Given the description of an element on the screen output the (x, y) to click on. 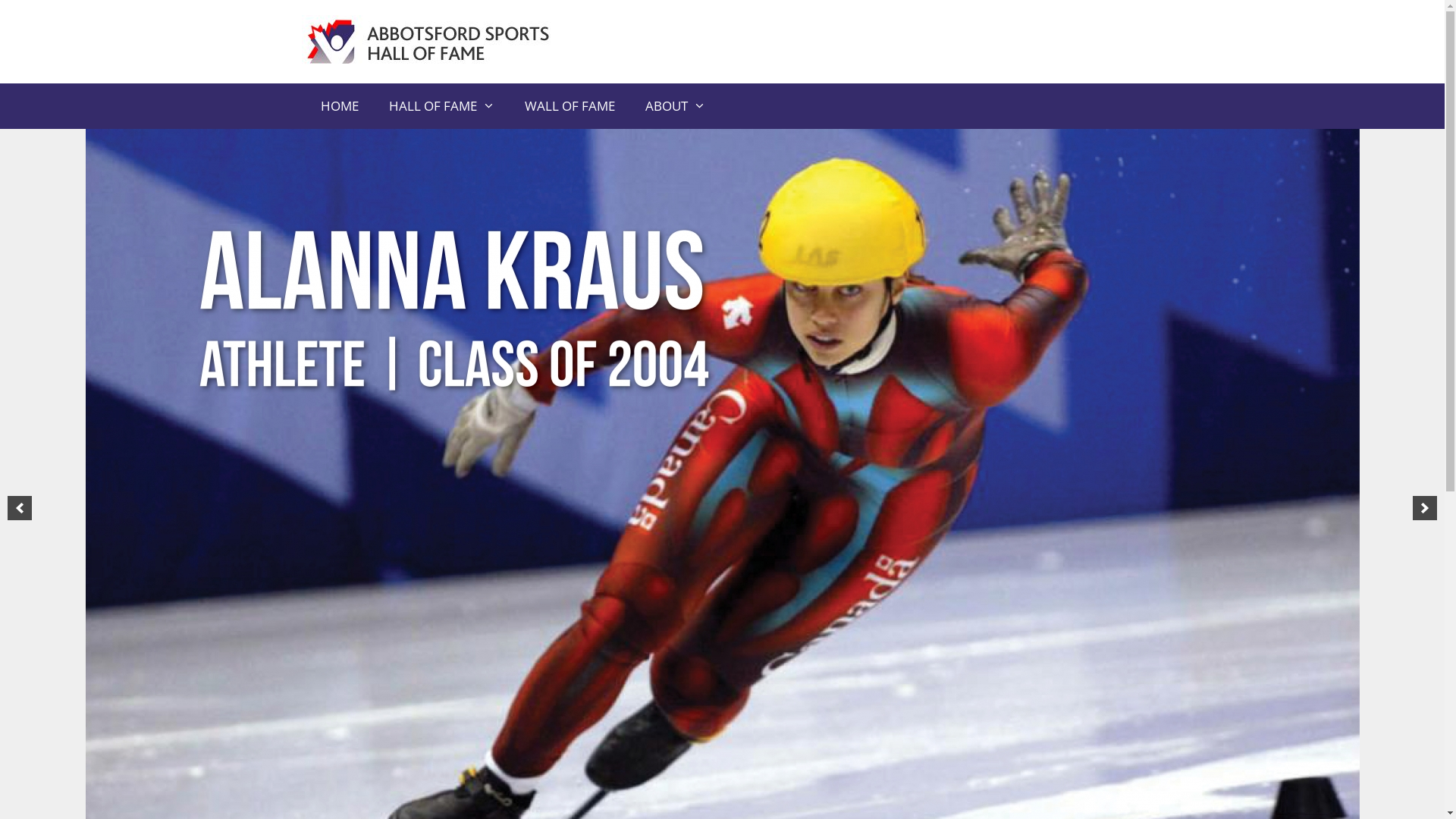
Abbotsford Sports Hall of Fame Element type: hover (434, 40)
WALL OF FAME Element type: text (569, 105)
Abbotsford Sports Hall of Fame Element type: hover (434, 41)
HALL OF FAME Element type: text (441, 105)
HOME Element type: text (338, 105)
ABOUT Element type: text (675, 105)
